Given the description of an element on the screen output the (x, y) to click on. 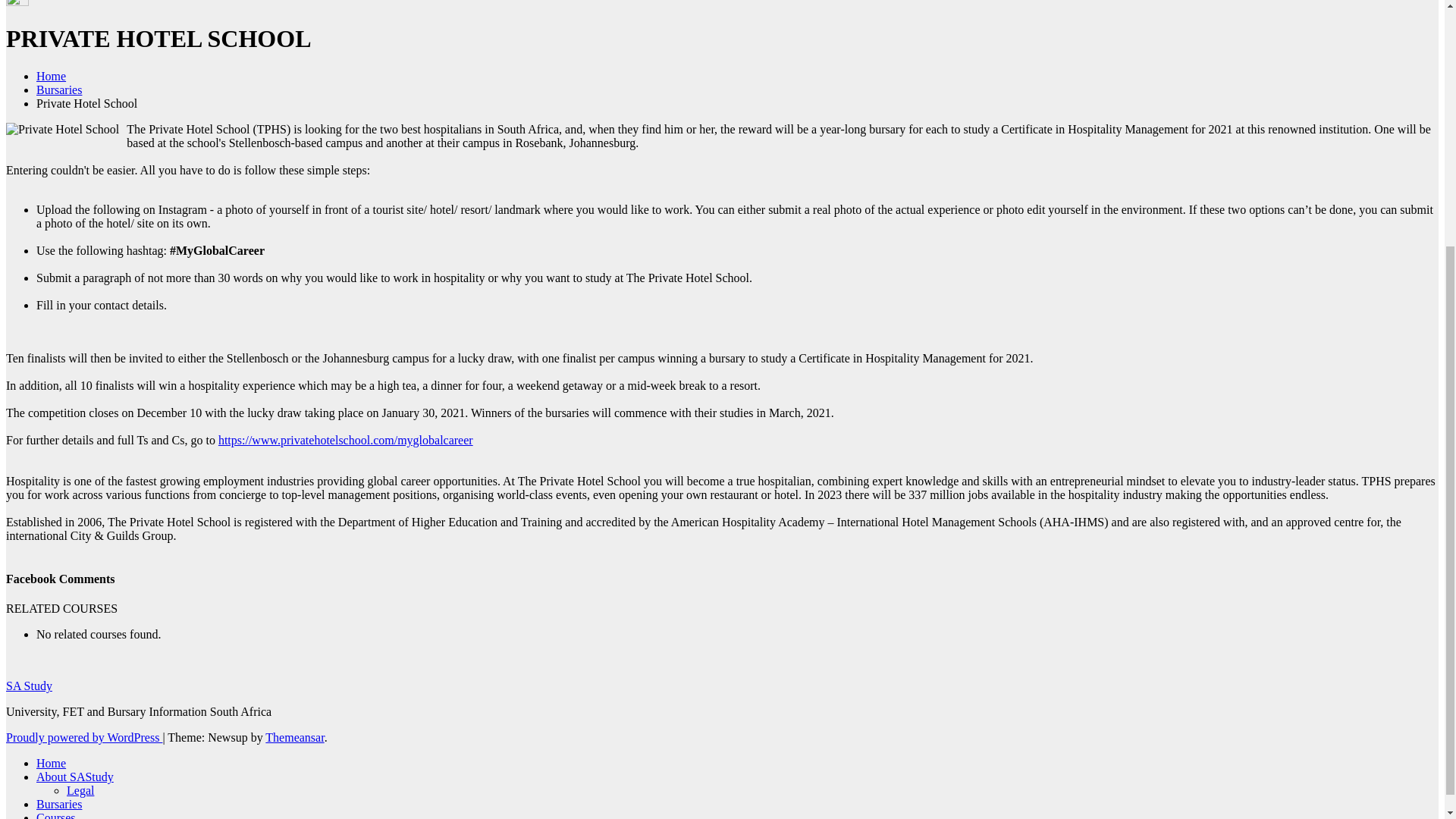
Bursaries (58, 803)
Home (50, 762)
About SAStudy (74, 776)
Proudly powered by WordPress (83, 737)
Home (50, 762)
Home (50, 75)
Bursaries (58, 89)
SA Study (28, 685)
Themeansar (293, 737)
Legal (80, 789)
